Given the description of an element on the screen output the (x, y) to click on. 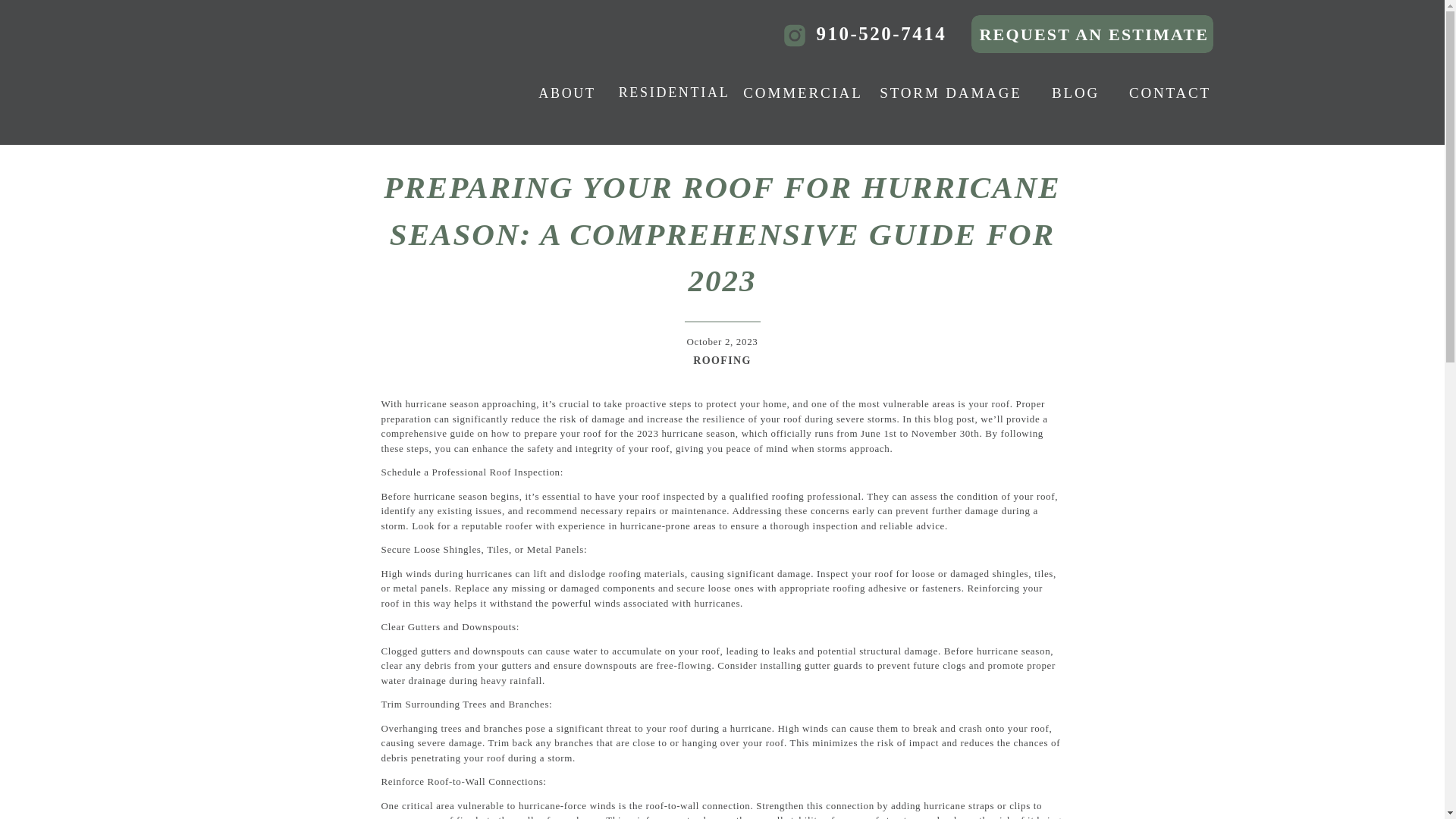
BLOG (1074, 94)
 REQUEST AN ESTIMATE (1091, 33)
CONTACT (1169, 94)
STORM DAMAGE (951, 94)
COMMERCIAL (802, 94)
ABOUT (566, 95)
910-520-7414 (898, 34)
RESIDENTIAL (674, 94)
ROOFING (722, 360)
